Given the description of an element on the screen output the (x, y) to click on. 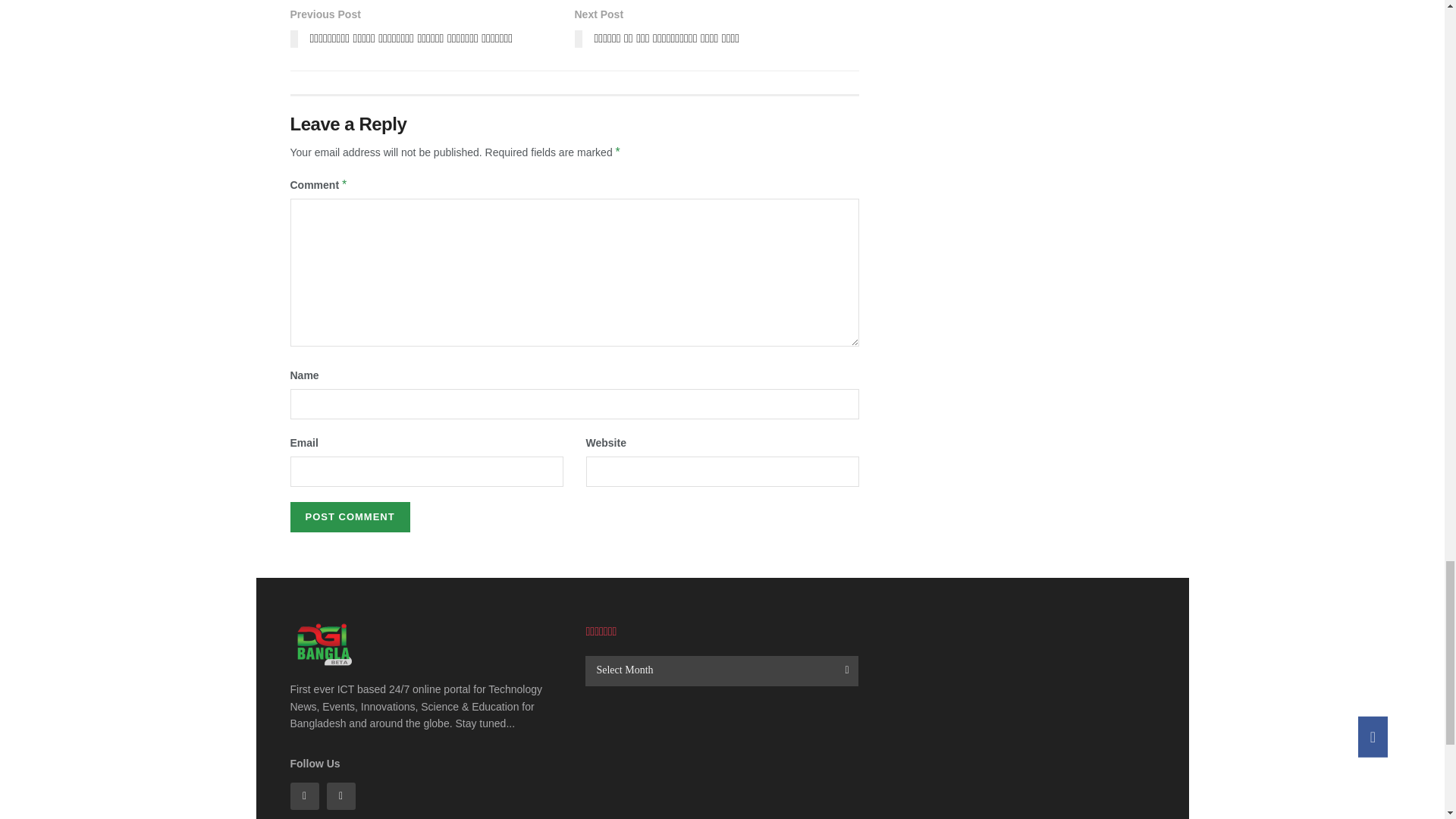
Post Comment (349, 517)
Advertisement (722, 764)
